Given the description of an element on the screen output the (x, y) to click on. 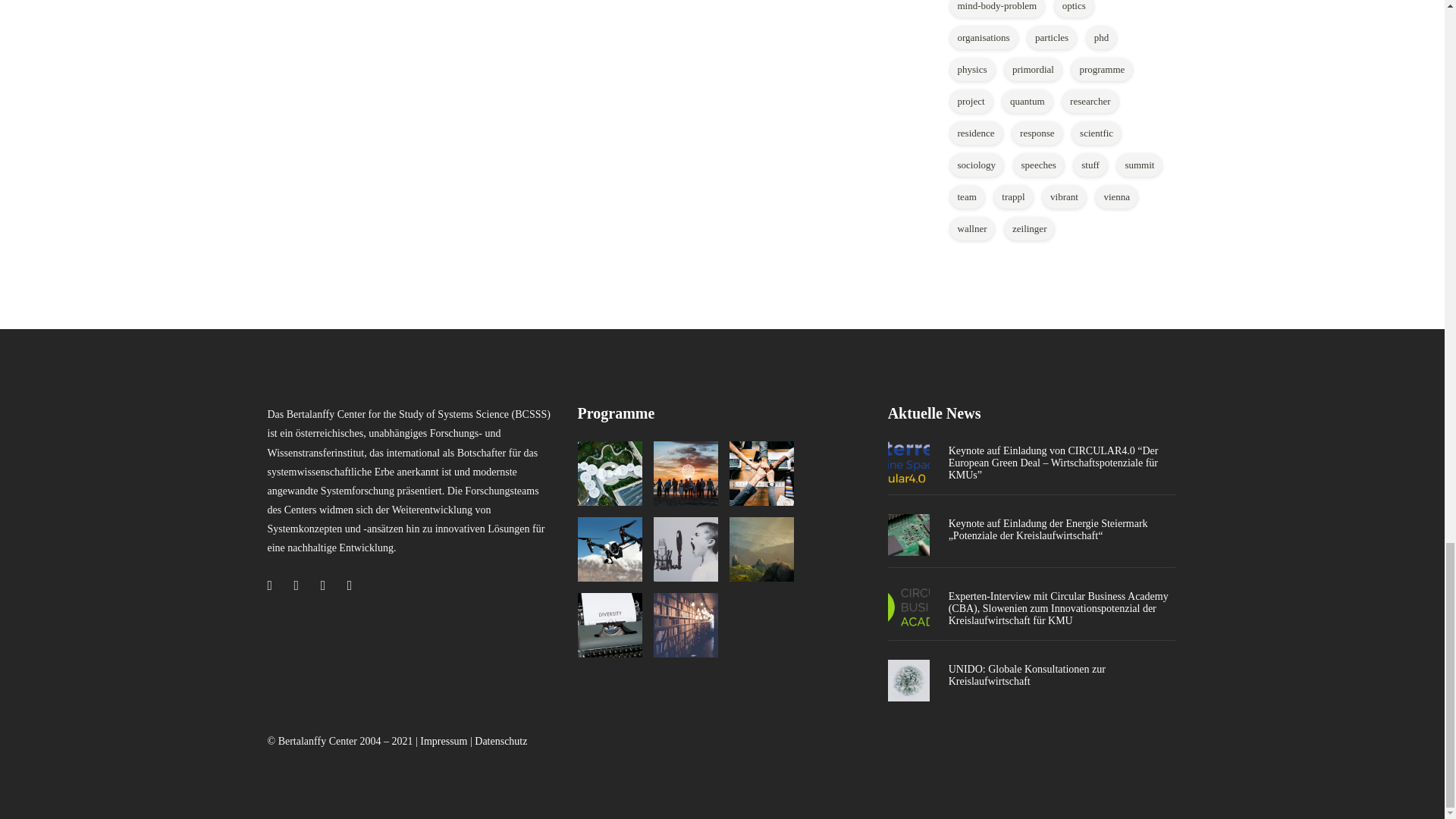
Systems Philosophy Lab (761, 548)
International Encyclopedia of Systems and Cybernetics (610, 624)
Transdisciplinarity Lab (761, 473)
European Meetings on Cybernetics and Systems Research (610, 548)
Circular Economy Forum Austria (610, 473)
Young Scientists and Researcher Awards (685, 548)
Ecocivilisation (685, 473)
